Given the description of an element on the screen output the (x, y) to click on. 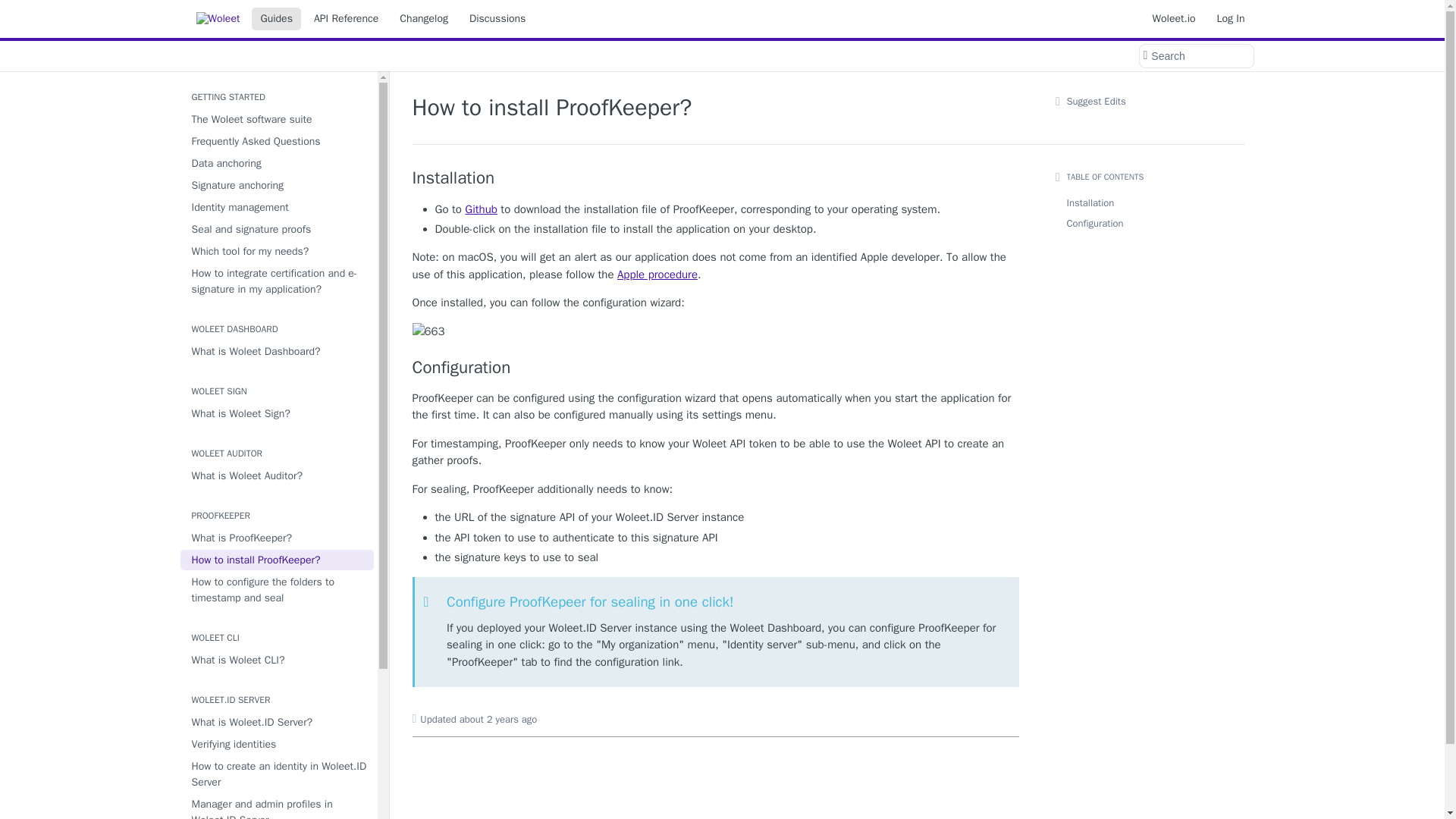
How to configure the folders to timestamp and seal (277, 589)
Data anchoring (277, 163)
Discussions (497, 18)
What is ProofKeeper? (277, 537)
Configuration (715, 367)
What is Woleet CLI? (277, 660)
What is Woleet.ID Server? (277, 721)
Search (1195, 56)
API Reference (346, 18)
What is Woleet Sign? (277, 413)
What is Woleet Auditor? (277, 476)
Seal and signature proofs (277, 229)
Identity management (277, 207)
Installation (715, 178)
Guides (276, 18)
